Given the description of an element on the screen output the (x, y) to click on. 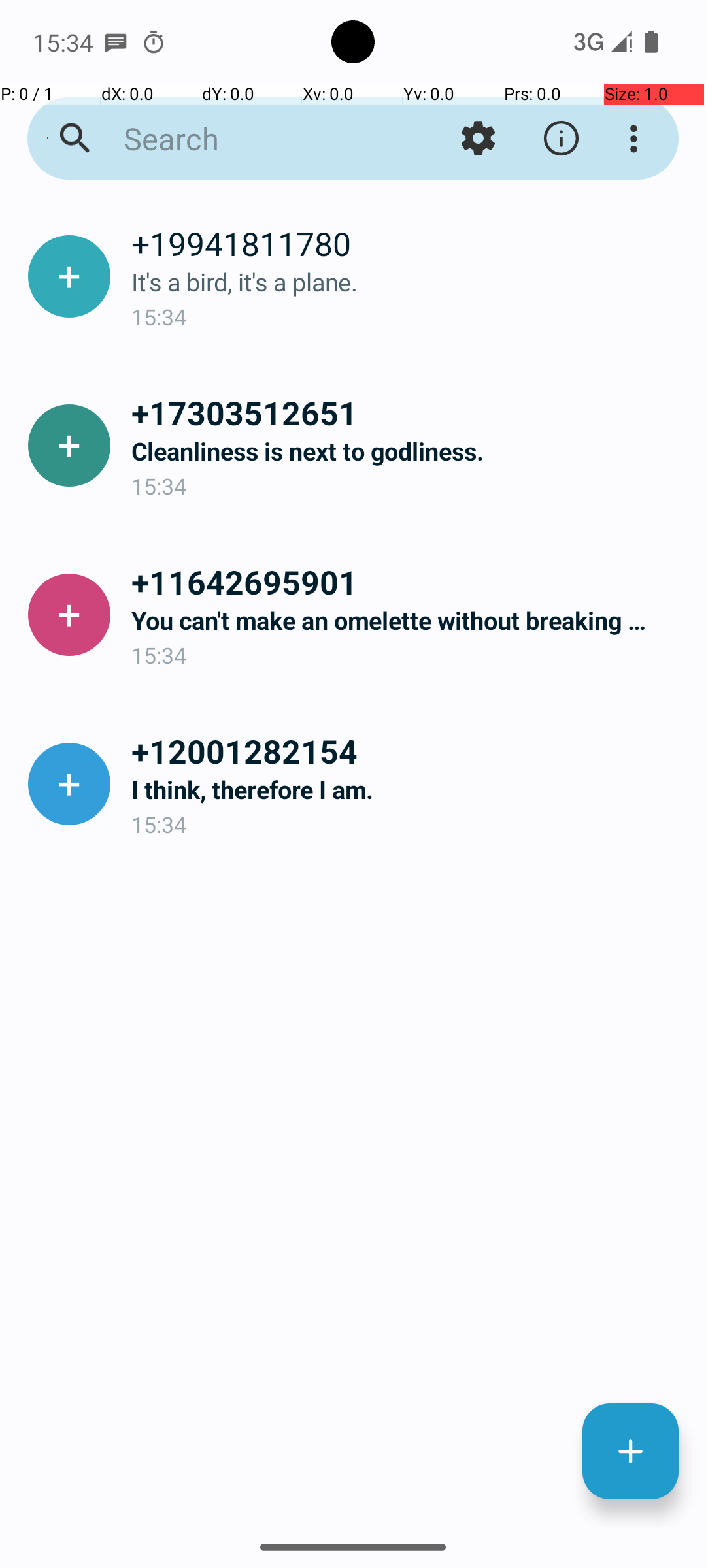
+19941811780 Element type: android.widget.TextView (408, 242)
+17303512651 Element type: android.widget.TextView (408, 412)
Cleanliness is next to godliness. Element type: android.widget.TextView (408, 450)
+11642695901 Element type: android.widget.TextView (408, 581)
You can't make an omelette without breaking a few eggs. Element type: android.widget.TextView (408, 620)
+12001282154 Element type: android.widget.TextView (408, 750)
I think, therefore I am. Element type: android.widget.TextView (408, 789)
